Given the description of an element on the screen output the (x, y) to click on. 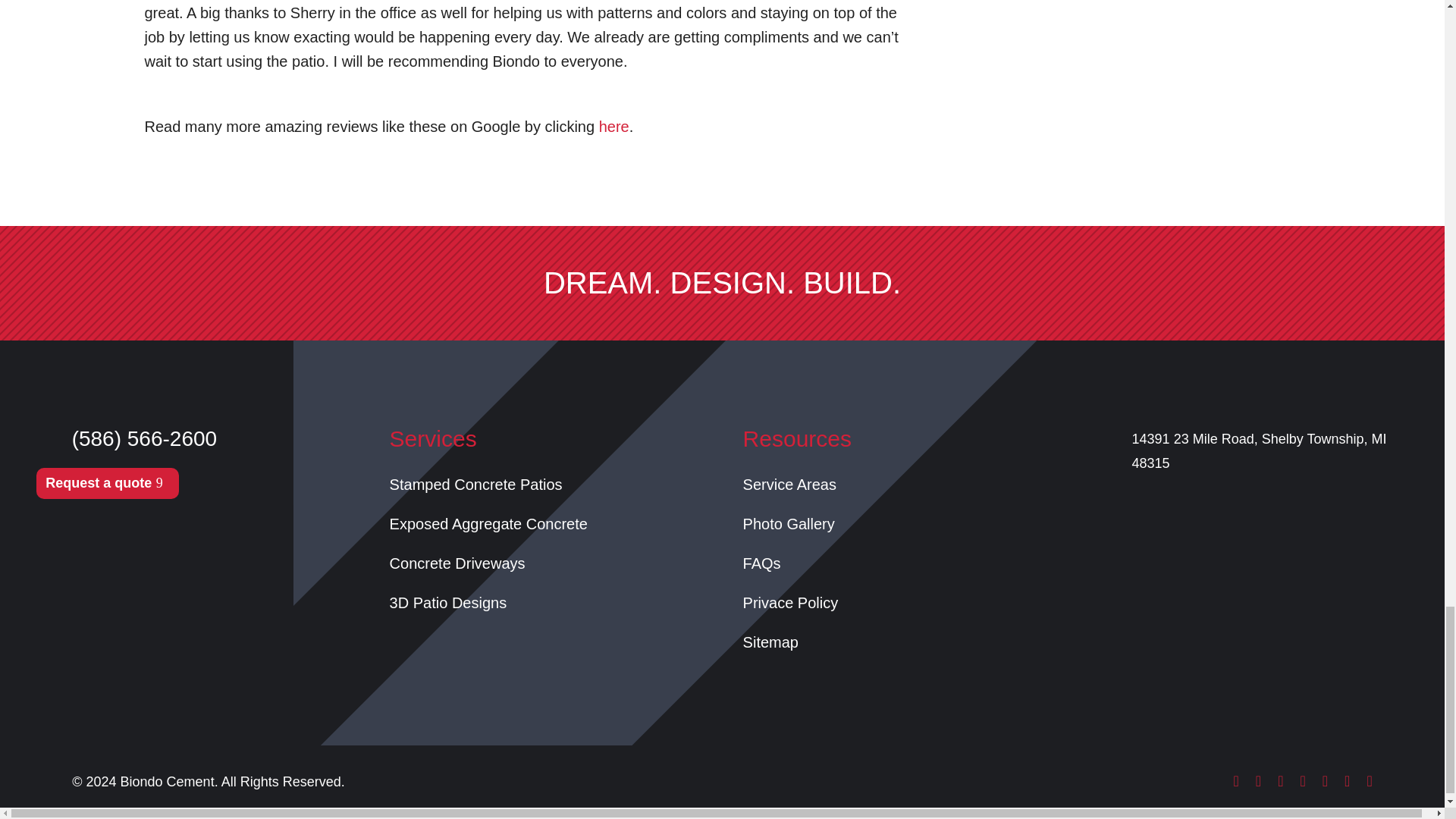
Concrete Driveways (457, 563)
Exposed Aggregate Concrete (489, 523)
Service Areas (788, 484)
Stamped Concrete Patios (476, 484)
here (613, 126)
3D Patio Designs (448, 602)
Request a quote (107, 482)
Photo Gallery (788, 523)
